Given the description of an element on the screen output the (x, y) to click on. 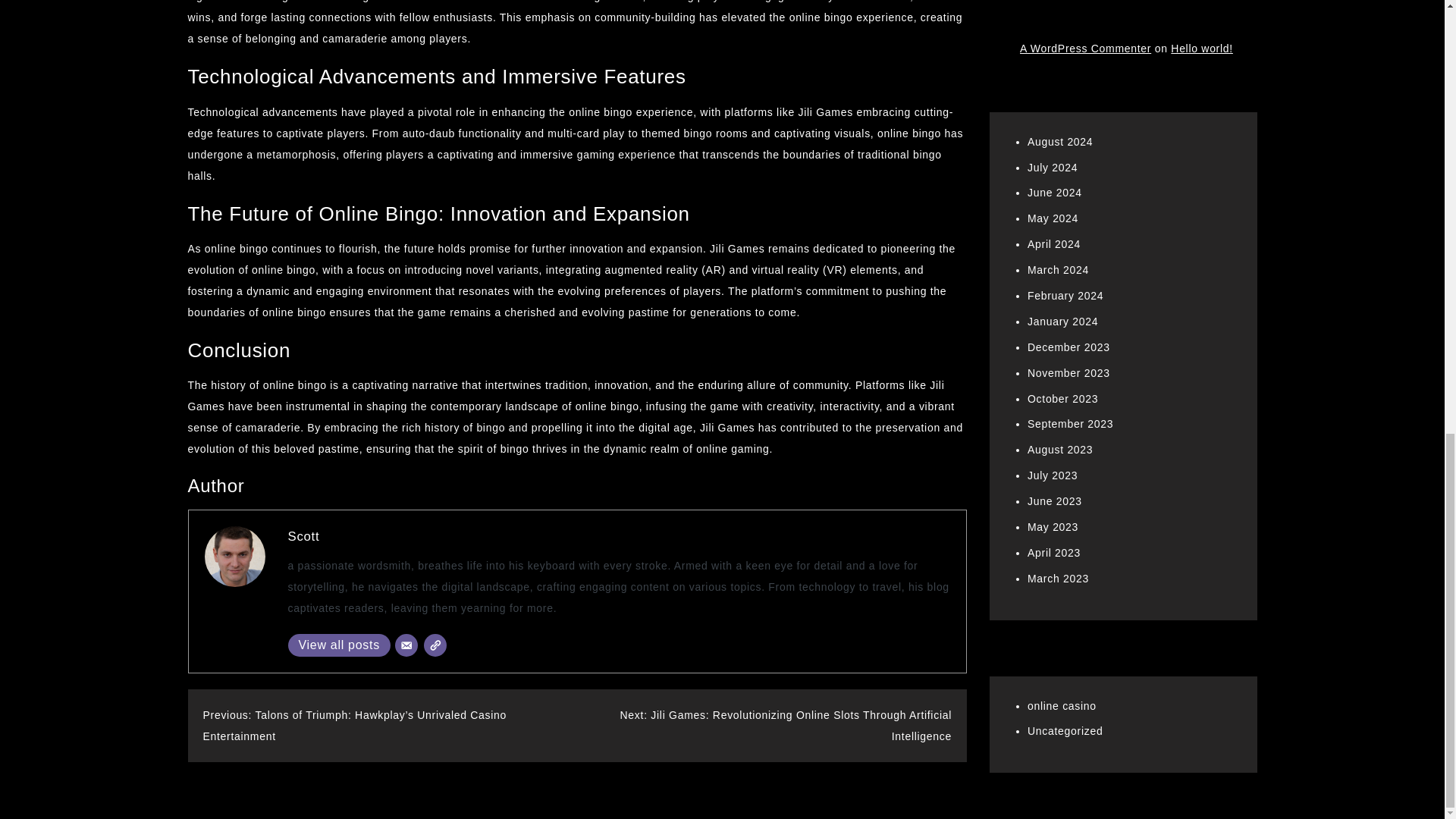
September 2023 (1070, 159)
January 2024 (1062, 56)
October 2023 (1062, 133)
June 2023 (1054, 236)
July 2023 (1052, 210)
March 2024 (1058, 5)
Scott (304, 536)
View all posts (339, 644)
November 2023 (1068, 108)
December 2023 (1068, 82)
